Given the description of an element on the screen output the (x, y) to click on. 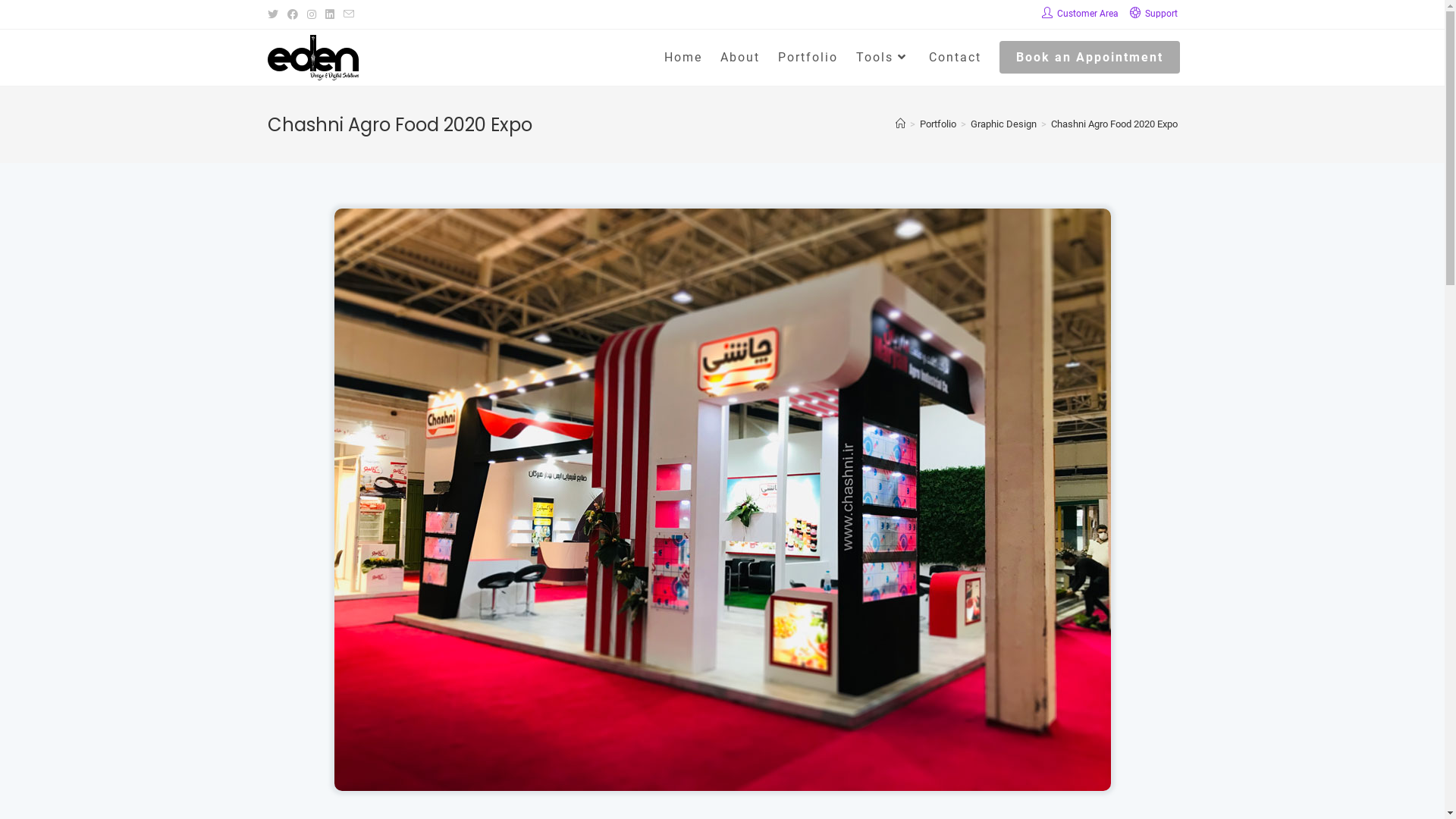
Letterhead Print Element type: text (1063, 540)
Brochure Print Element type: text (1063, 610)
Sticker Print Element type: text (1063, 587)
WordPress Website Design Element type: text (836, 587)
Envelope Print Element type: text (1063, 563)
+374 95 088809 Element type: text (401, 610)
Google Analytics Element type: text (836, 719)
info@eden.bz Element type: text (352, 655)
T-Shirt Print Element type: text (1063, 634)
Contact Element type: text (954, 57)
Support Element type: text (1153, 14)
Personal Website Design Element type: text (836, 516)
Brochure Design Element type: text (608, 540)
Portfolio Element type: text (807, 57)
Social Media Strategy Element type: text (836, 743)
Book an Appointment Element type: text (1089, 57)
Product Packaging Design Element type: text (608, 610)
Home Element type: text (683, 57)
Label Design Element type: text (608, 587)
Portfolio Element type: text (937, 123)
Flyer Print Element type: text (1063, 516)
About Element type: text (739, 57)
Logo Design Element type: text (608, 516)
Chashni Agro Food 2020 Expo Element type: text (1114, 123)
SEO Element type: text (836, 672)
Stationary Design Element type: text (608, 563)
Business Website Design Element type: text (836, 540)
ECommerce Design Element type: text (836, 563)
Billboard Design Element type: text (608, 657)
Signage Design Element type: text (608, 681)
CALL US ON SKYPE Element type: text (337, 692)
Landing Page Design Element type: text (836, 610)
Label Design Element type: text (608, 634)
Google Ads Element type: text (836, 696)
Customer Area Element type: text (1079, 14)
Tools Element type: text (882, 57)
Mug Print Element type: text (1063, 657)
Graphic Design Element type: text (1003, 123)
